Given the description of an element on the screen output the (x, y) to click on. 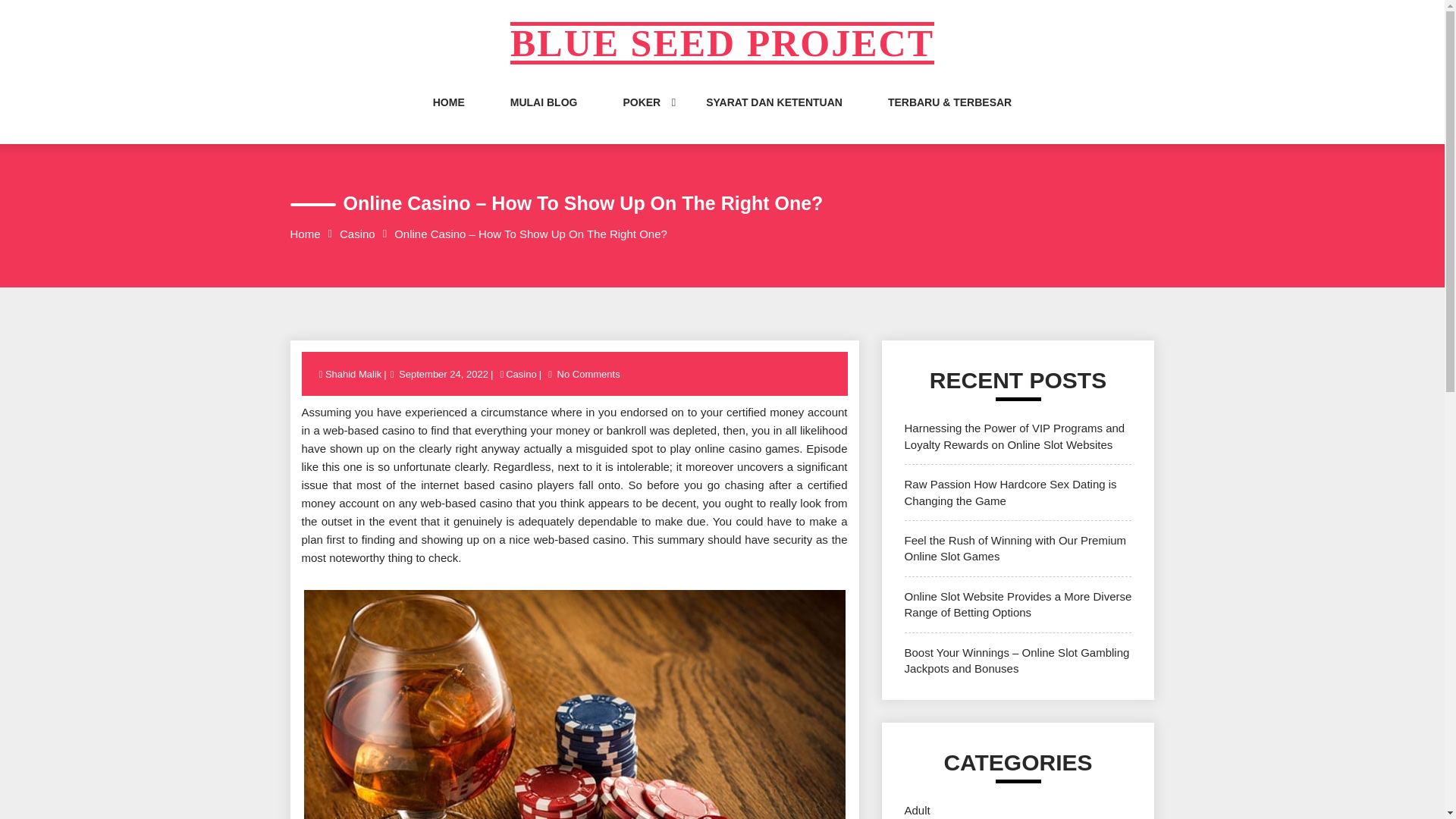
Feel the Rush of Winning with Our Premium Online Slot Games (1014, 547)
Home (304, 233)
Raw Passion How Hardcore Sex Dating is Changing the Game (1010, 491)
September 24, 2022 (443, 374)
Adult (917, 809)
Casino (520, 374)
SYARAT DAN KETENTUAN (774, 117)
Shahid Malik (354, 374)
